Given the description of an element on the screen output the (x, y) to click on. 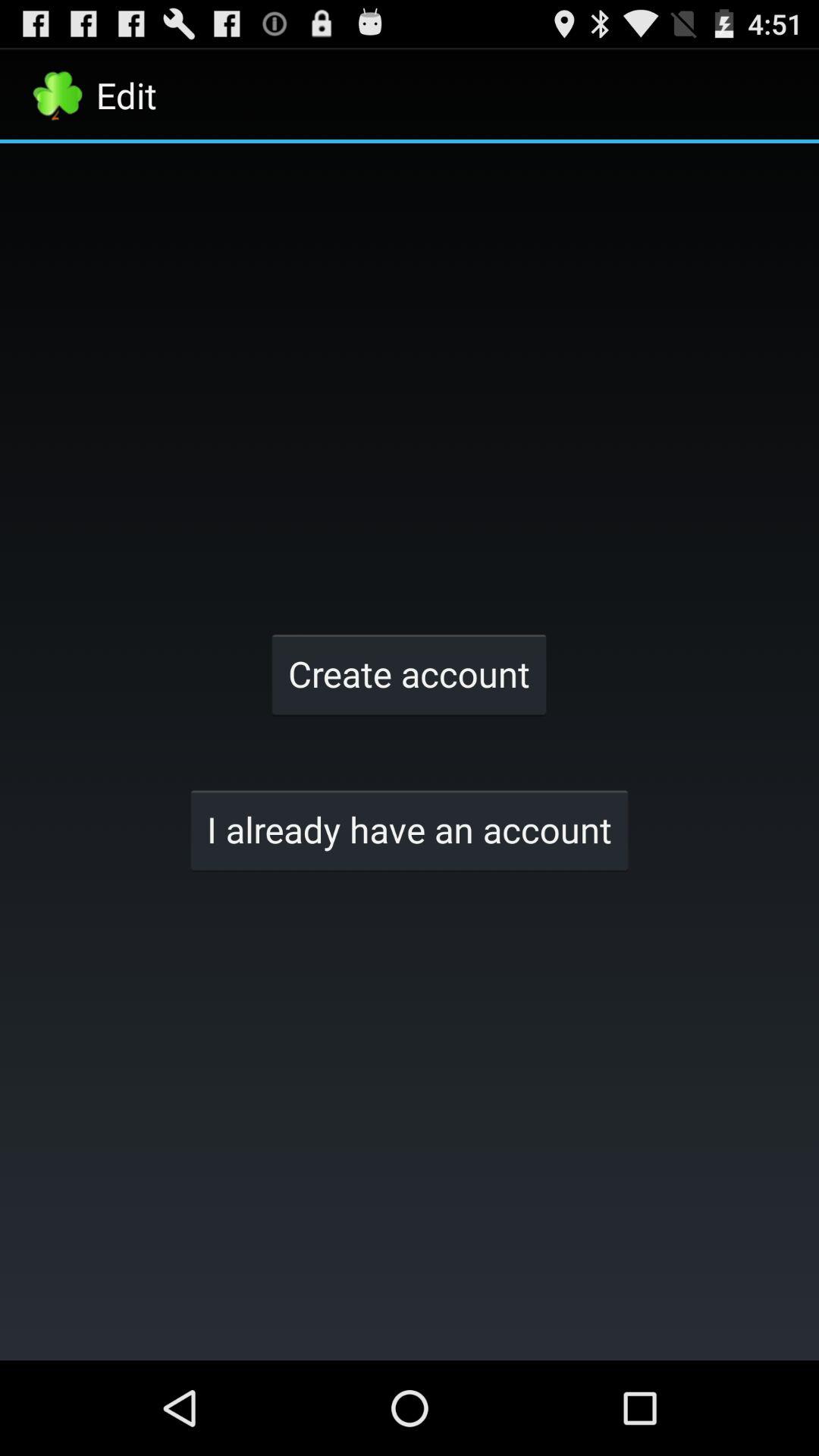
flip to the i already have (409, 829)
